Given the description of an element on the screen output the (x, y) to click on. 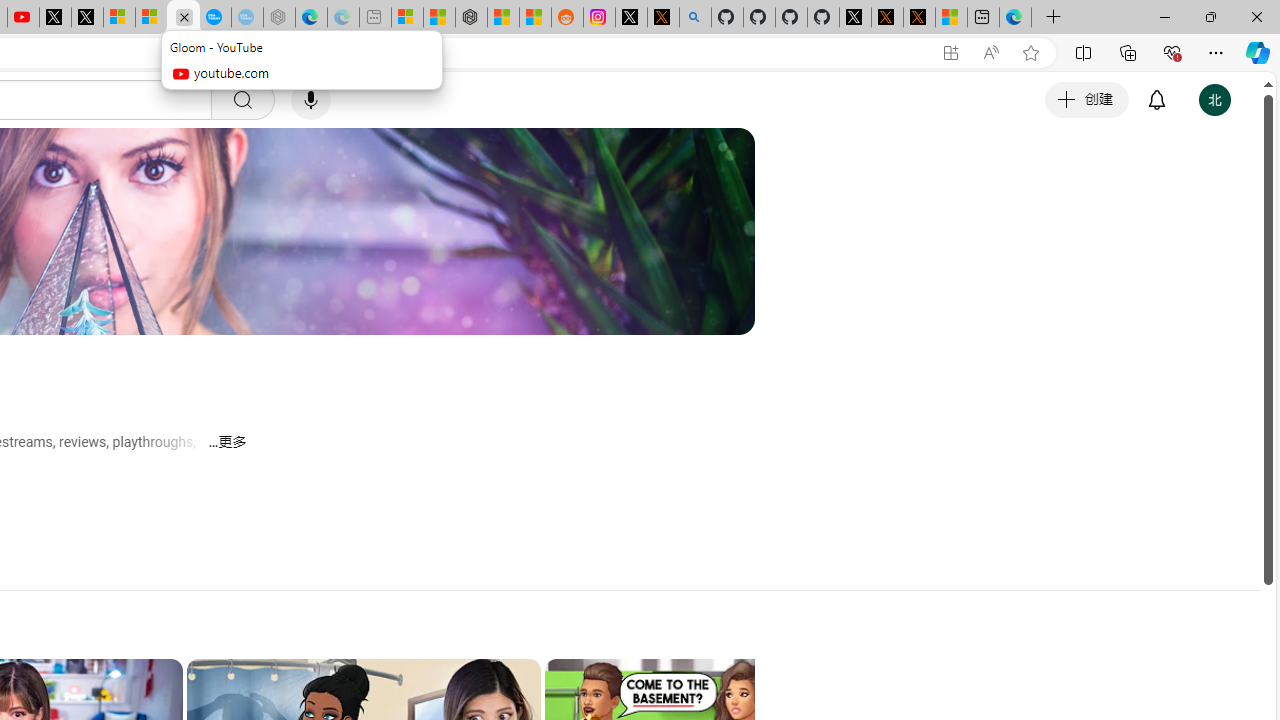
Copilot (Ctrl+Shift+.) (1258, 52)
